Given the description of an element on the screen output the (x, y) to click on. 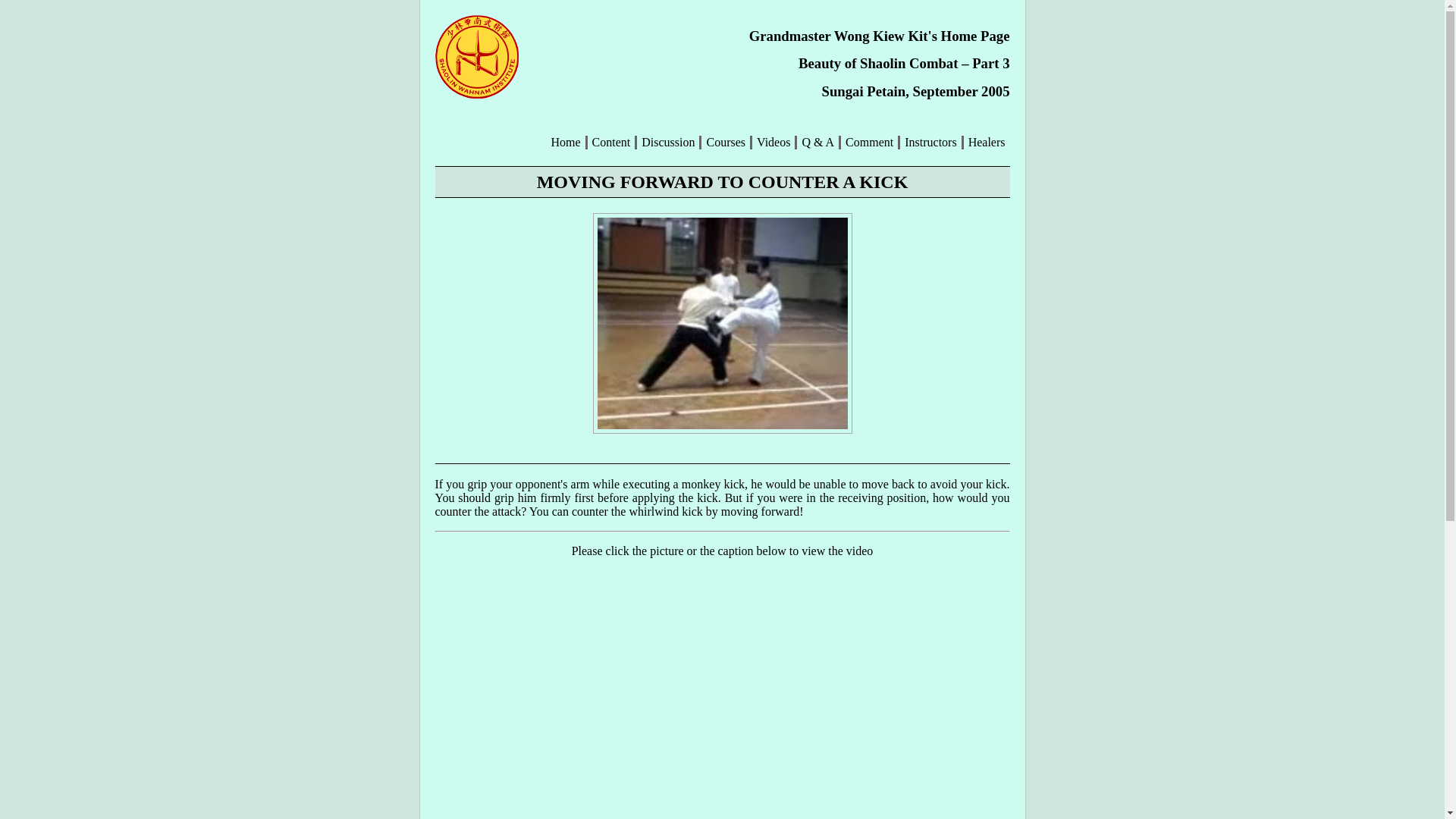
Home (564, 142)
